Given the description of an element on the screen output the (x, y) to click on. 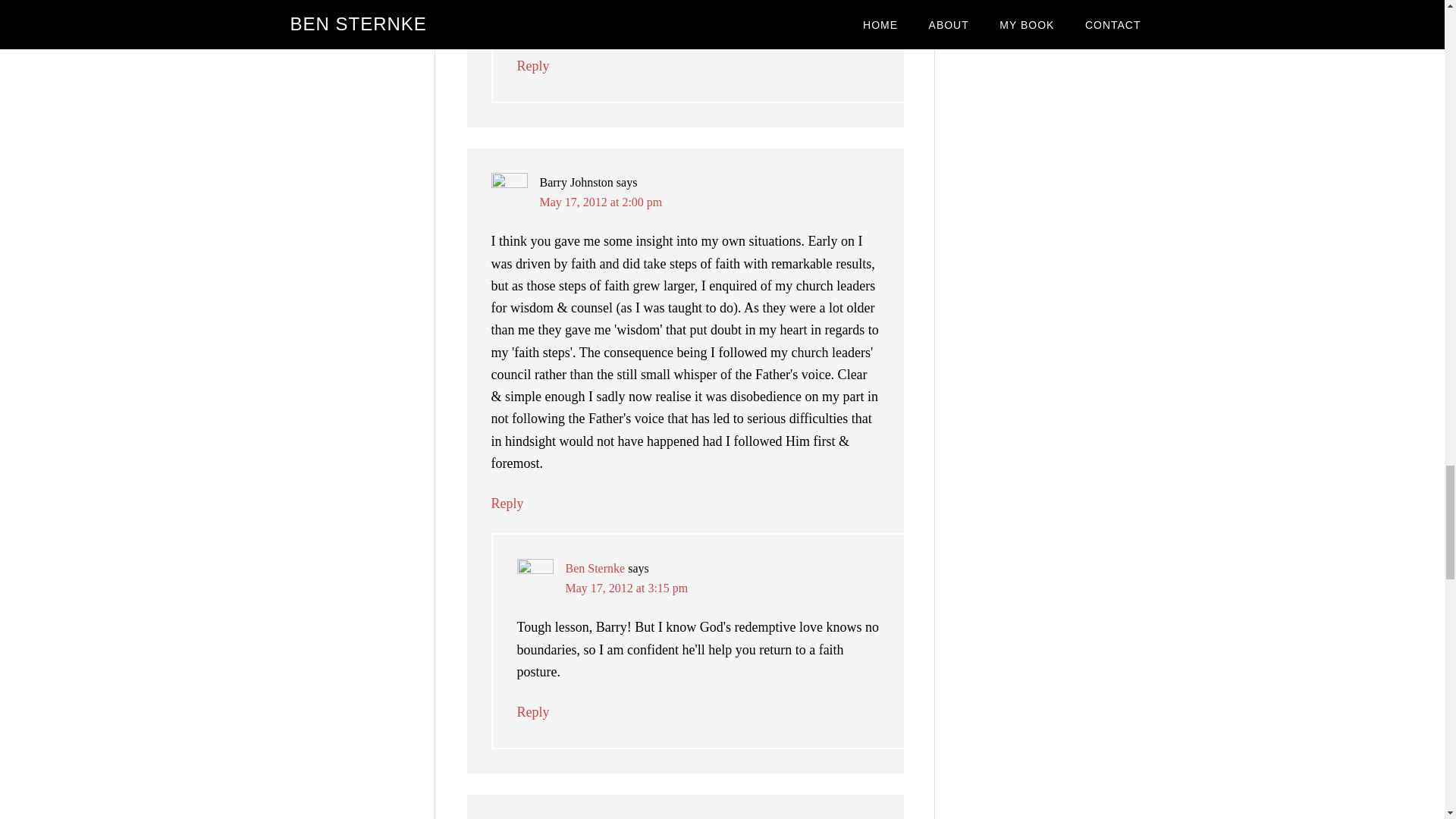
May 17, 2012 at 3:15 pm (627, 587)
Reply (533, 711)
Ben Sternke (596, 567)
May 17, 2012 at 2:00 pm (601, 201)
Reply (533, 65)
Reply (508, 503)
